Given the description of an element on the screen output the (x, y) to click on. 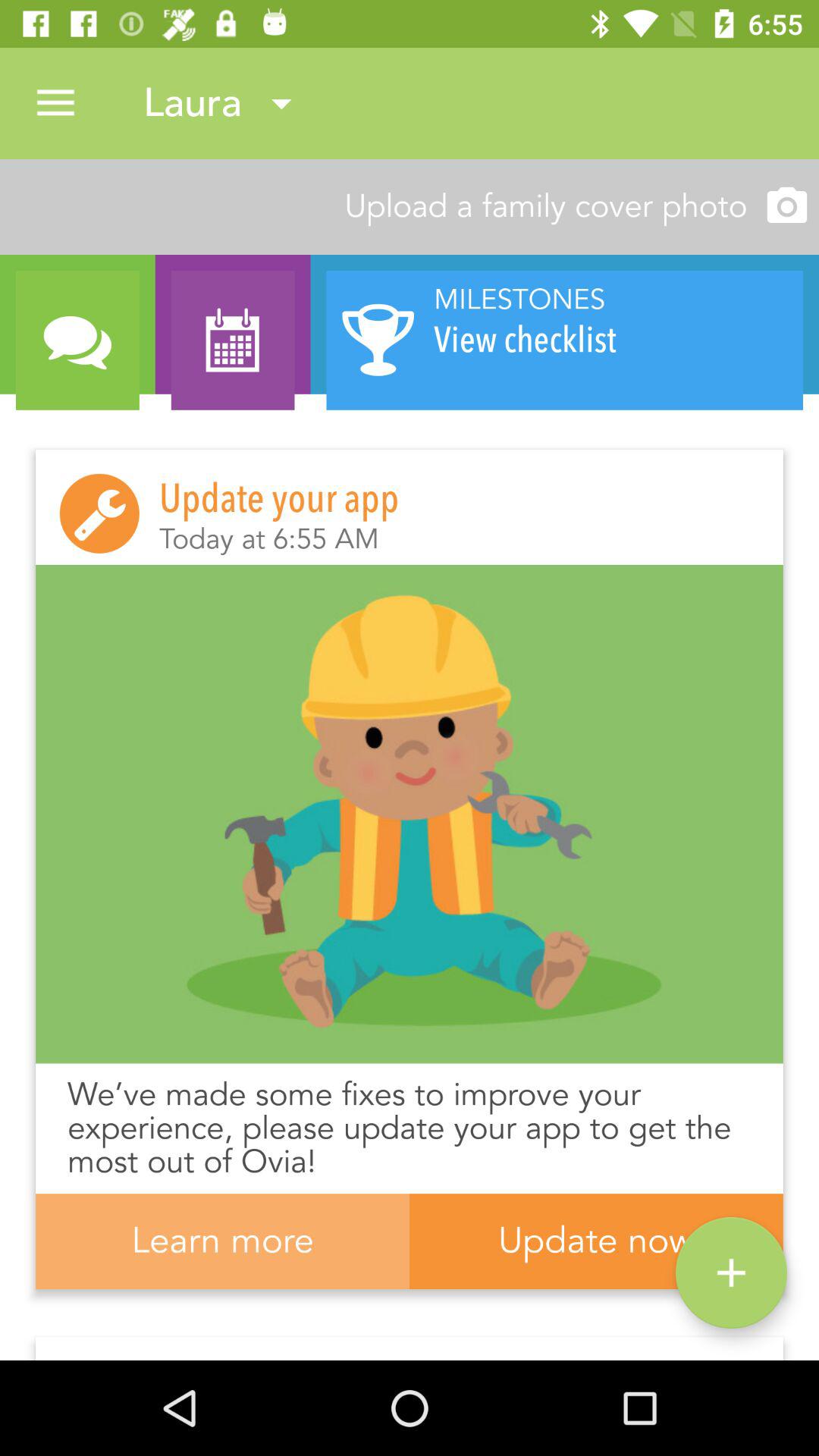
click the item below the we ve made (731, 1272)
